Given the description of an element on the screen output the (x, y) to click on. 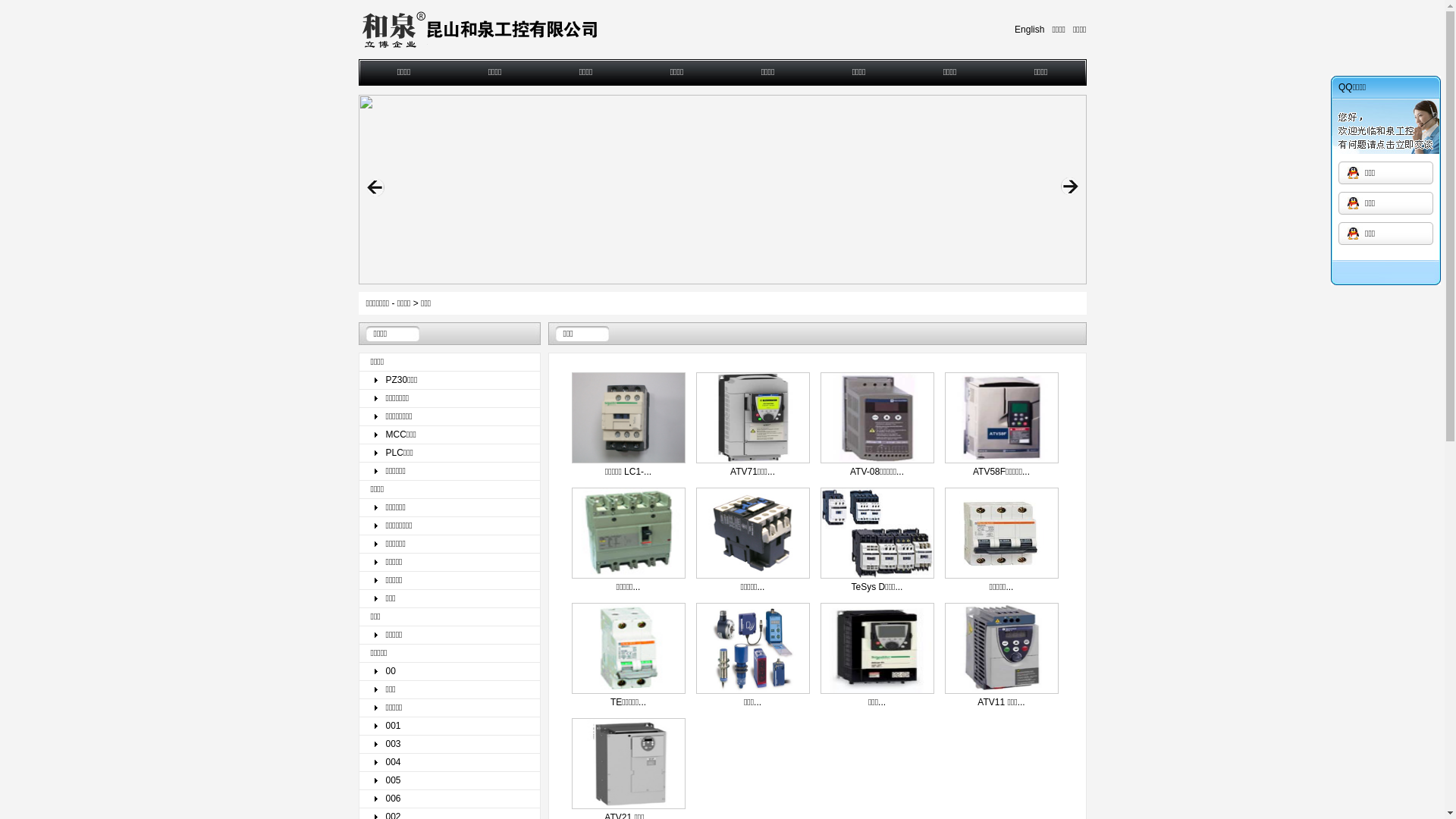
English Element type: text (1029, 29)
001 Element type: text (449, 725)
006 Element type: text (449, 798)
004 Element type: text (449, 762)
005 Element type: text (449, 780)
003 Element type: text (449, 744)
00 Element type: text (449, 671)
